Given the description of an element on the screen output the (x, y) to click on. 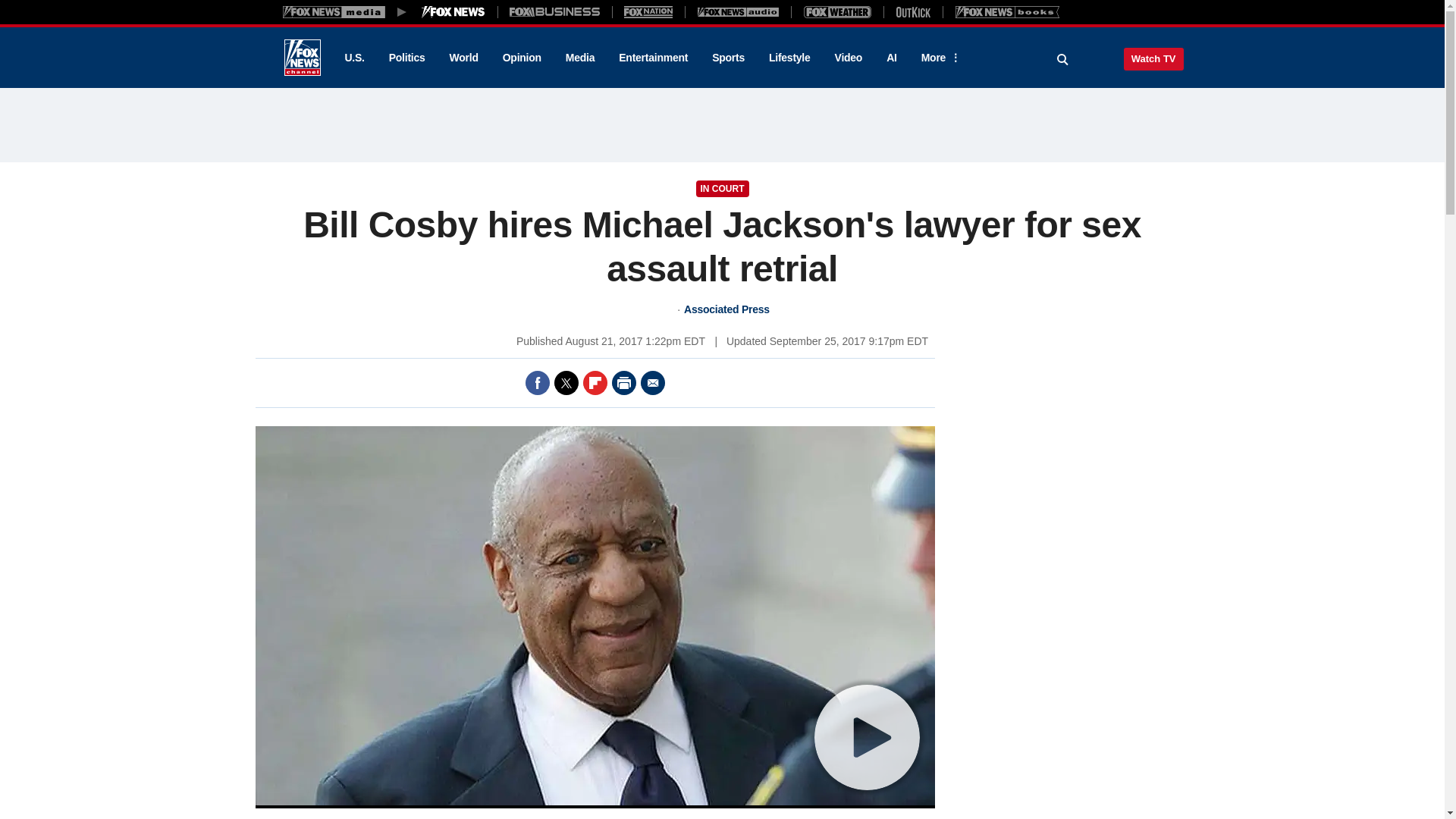
Fox News Media (453, 11)
Entertainment (653, 57)
Watch TV (1153, 58)
Politics (407, 57)
World (464, 57)
Outkick (912, 11)
Lifestyle (789, 57)
Fox News Audio (737, 11)
Books (1007, 11)
Fox Nation (648, 11)
